Given the description of an element on the screen output the (x, y) to click on. 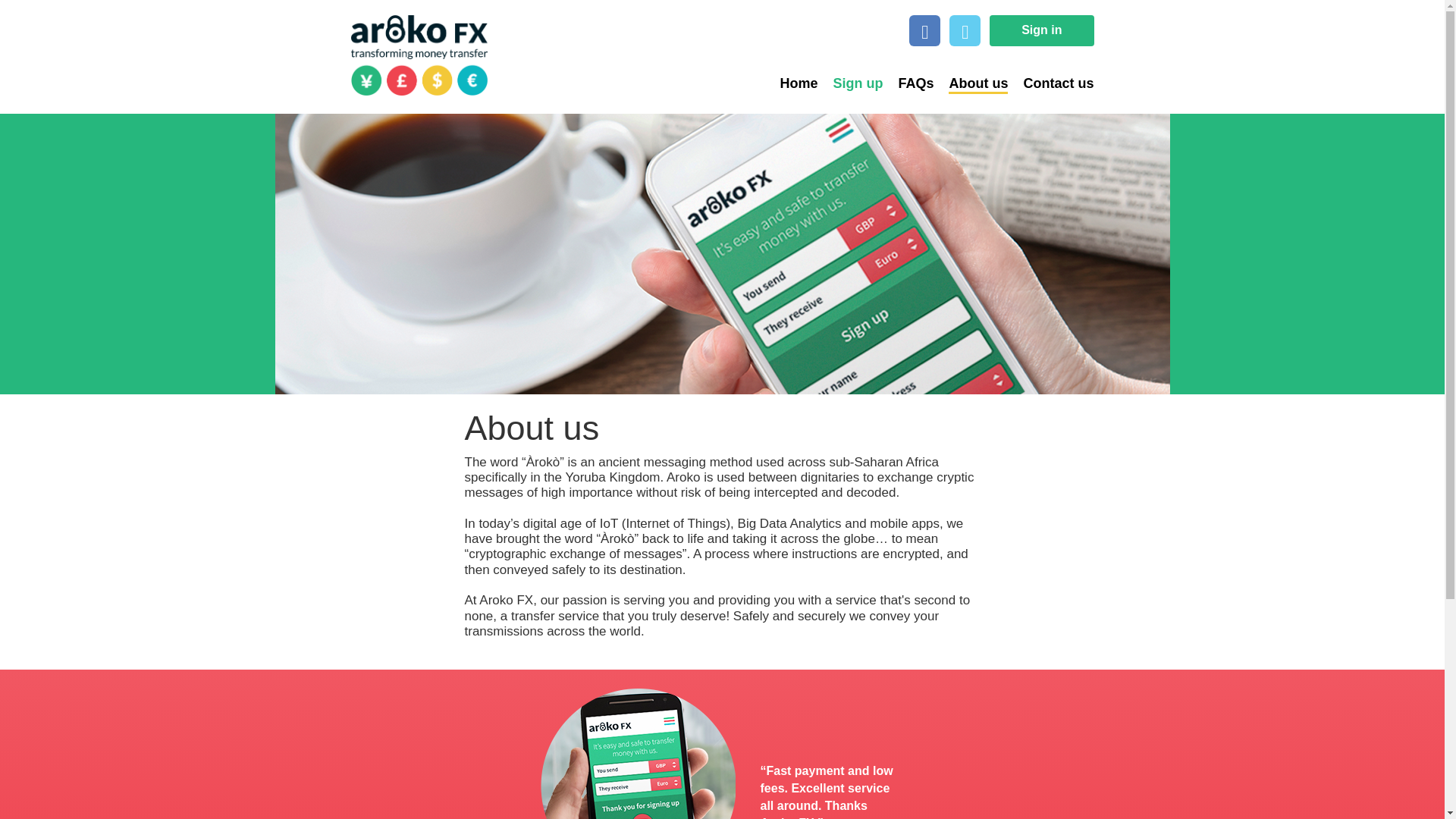
Sign up (849, 82)
About us (970, 82)
Find answers to what people often ask (907, 82)
Sign in (1041, 30)
Aroko FX enables you to send money from you phone and pc (970, 82)
Home (418, 56)
Contact us (1050, 82)
Home (790, 82)
FAQs (907, 82)
